Given the description of an element on the screen output the (x, y) to click on. 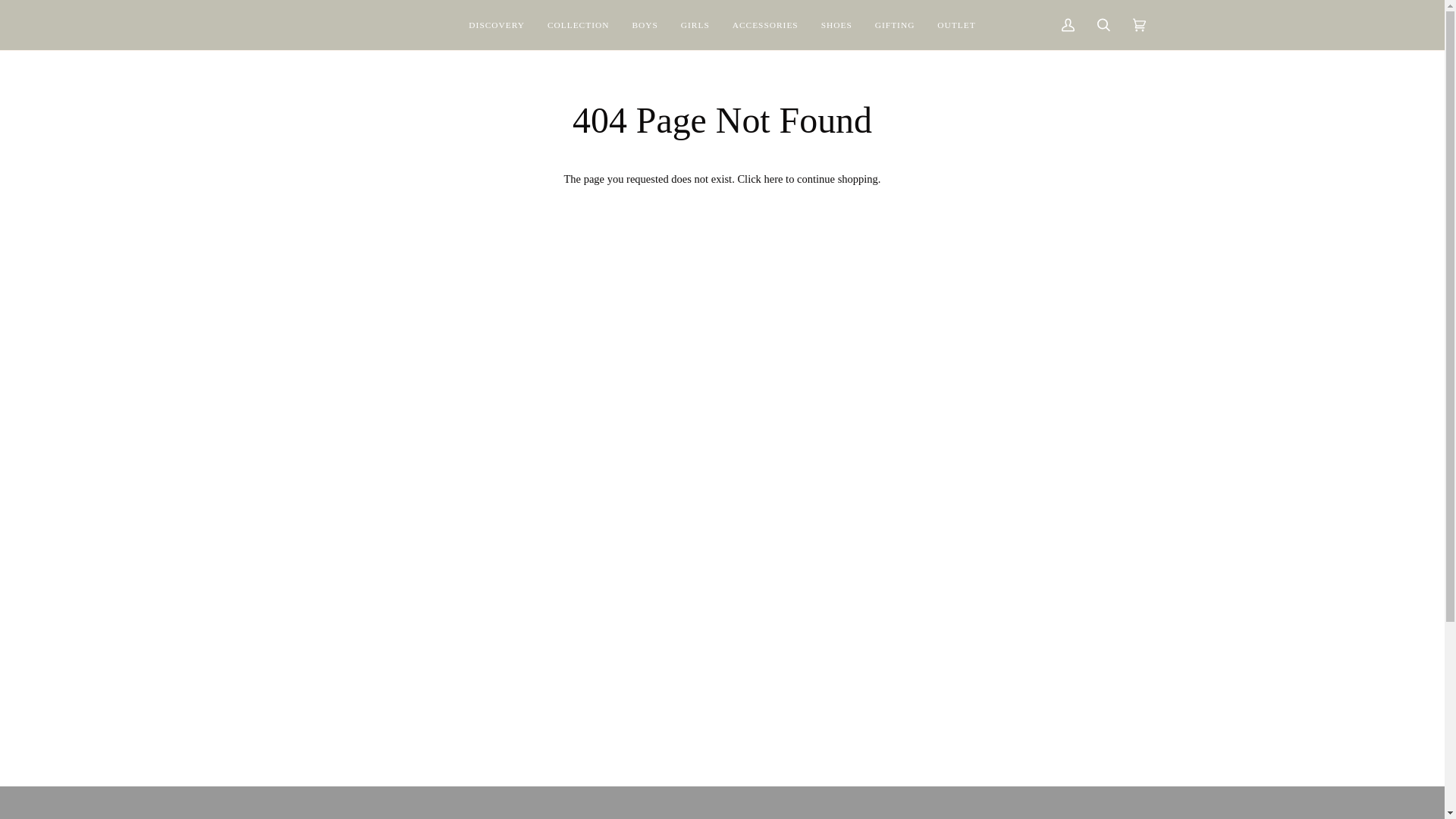
DISCOVERY (496, 24)
COLLECTION (578, 24)
GIRLS (694, 24)
OUTLET (956, 24)
SHOES (836, 24)
BOYS (644, 24)
ACCESSORIES (764, 24)
GIFTING (894, 24)
